Given the description of an element on the screen output the (x, y) to click on. 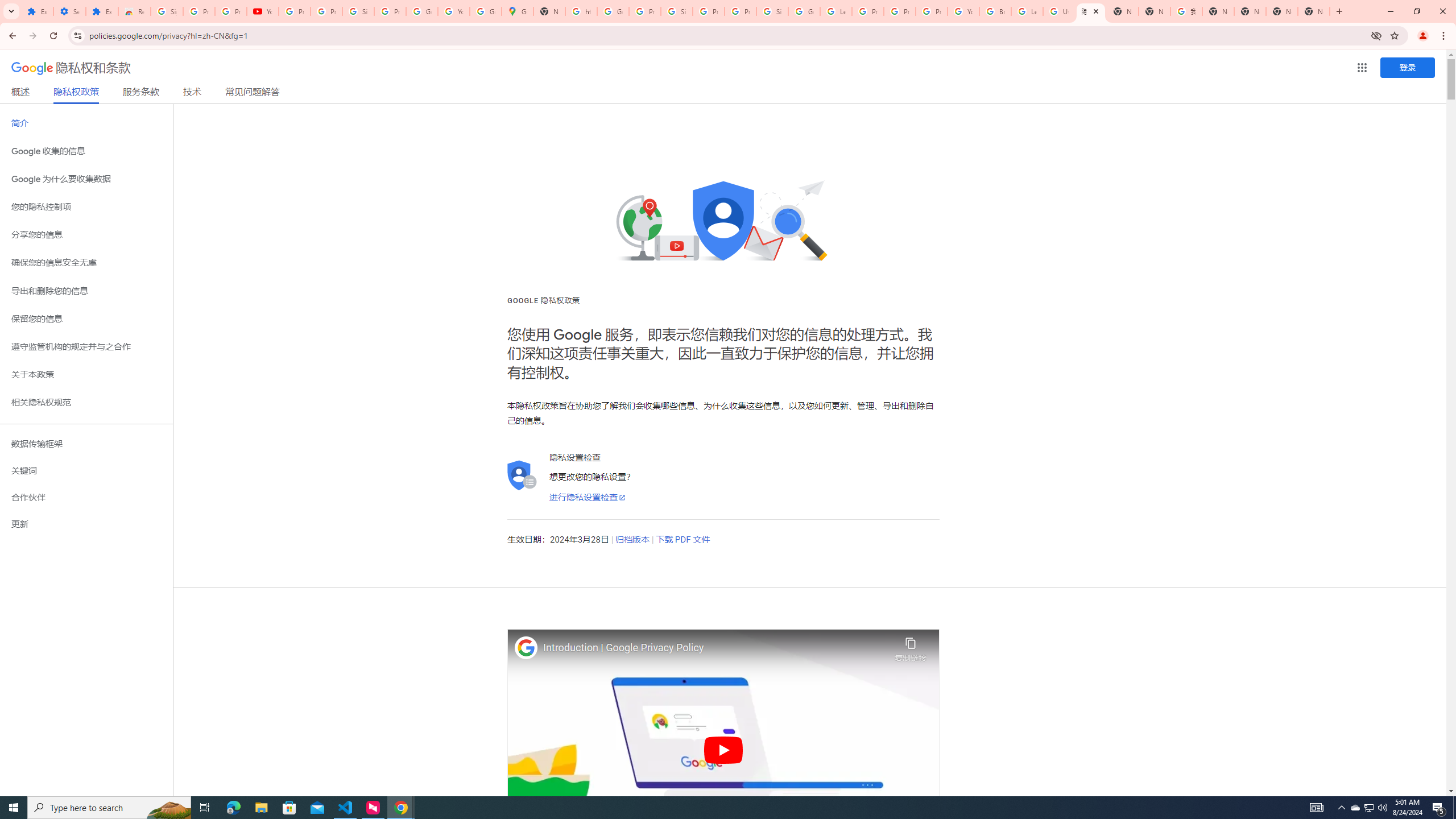
Extensions (101, 11)
Sign in - Google Accounts (358, 11)
https://scholar.google.com/ (581, 11)
